Given the description of an element on the screen output the (x, y) to click on. 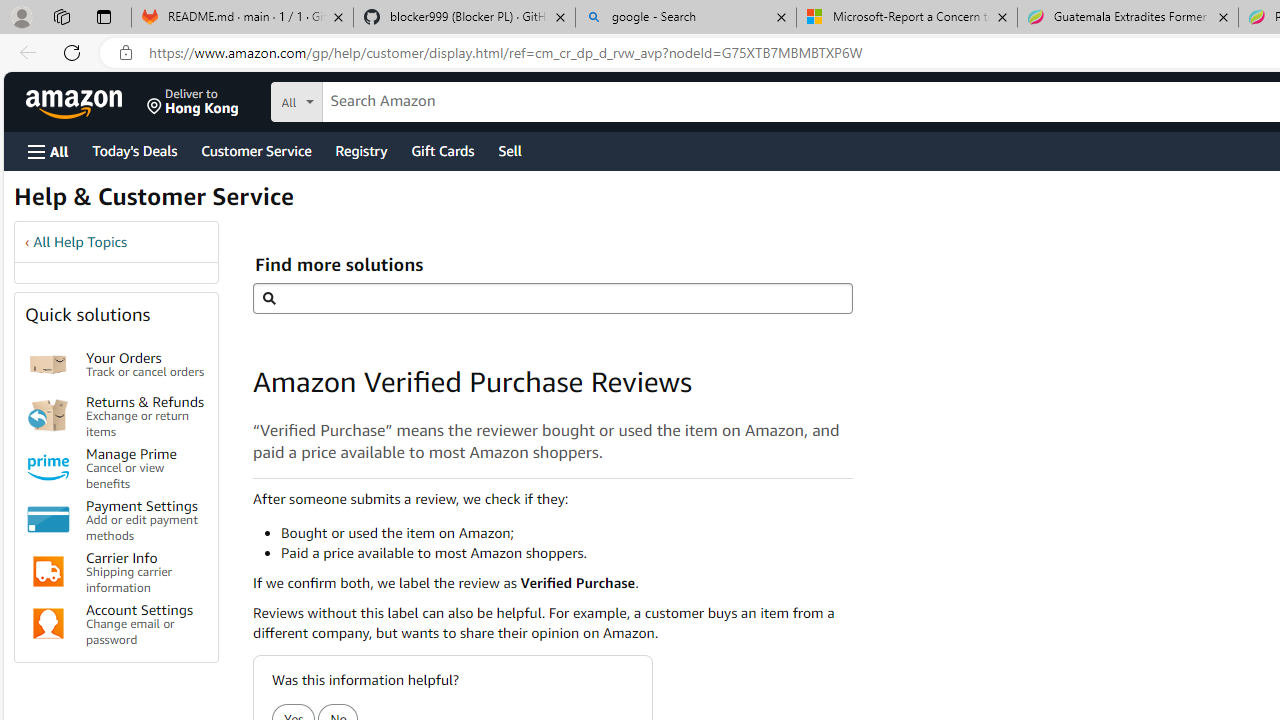
Carrier Info (48, 571)
Returns & Refunds (48, 415)
Find more solutions (552, 297)
Your Orders (48, 364)
Amazon (76, 101)
Today's Deals (134, 150)
Payment Settings Add or edit payment methods (145, 519)
All Help Topics (80, 242)
Returns & Refunds Exchange or return items (145, 414)
Bought or used the item on Amazon; (566, 532)
Deliver to Hong Kong (193, 101)
Search in (371, 99)
